Given the description of an element on the screen output the (x, y) to click on. 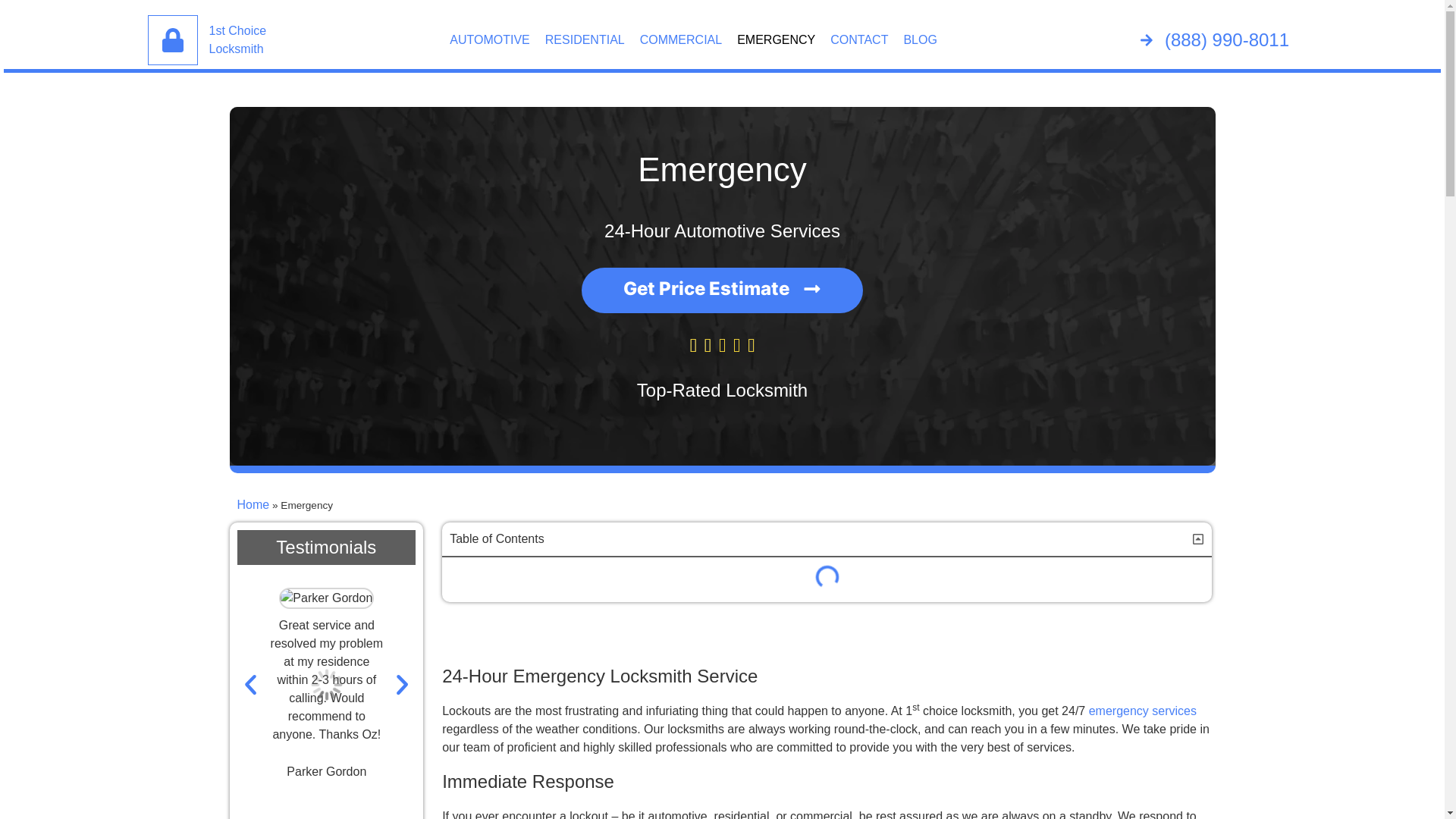
Get Price Estimate Element type: text (721, 290)
RESIDENTIAL Element type: text (584, 40)
CONTACT Element type: text (859, 40)
1st Choice Locksmith Element type: text (237, 39)
Home Element type: text (252, 504)
(888) 990-8011 Element type: text (1214, 39)
BLOG Element type: text (919, 40)
emergency services Element type: text (1142, 710)
AUTOMOTIVE Element type: text (489, 40)
COMMERCIAL Element type: text (680, 40)
EMERGENCY Element type: text (776, 40)
